Given the description of an element on the screen output the (x, y) to click on. 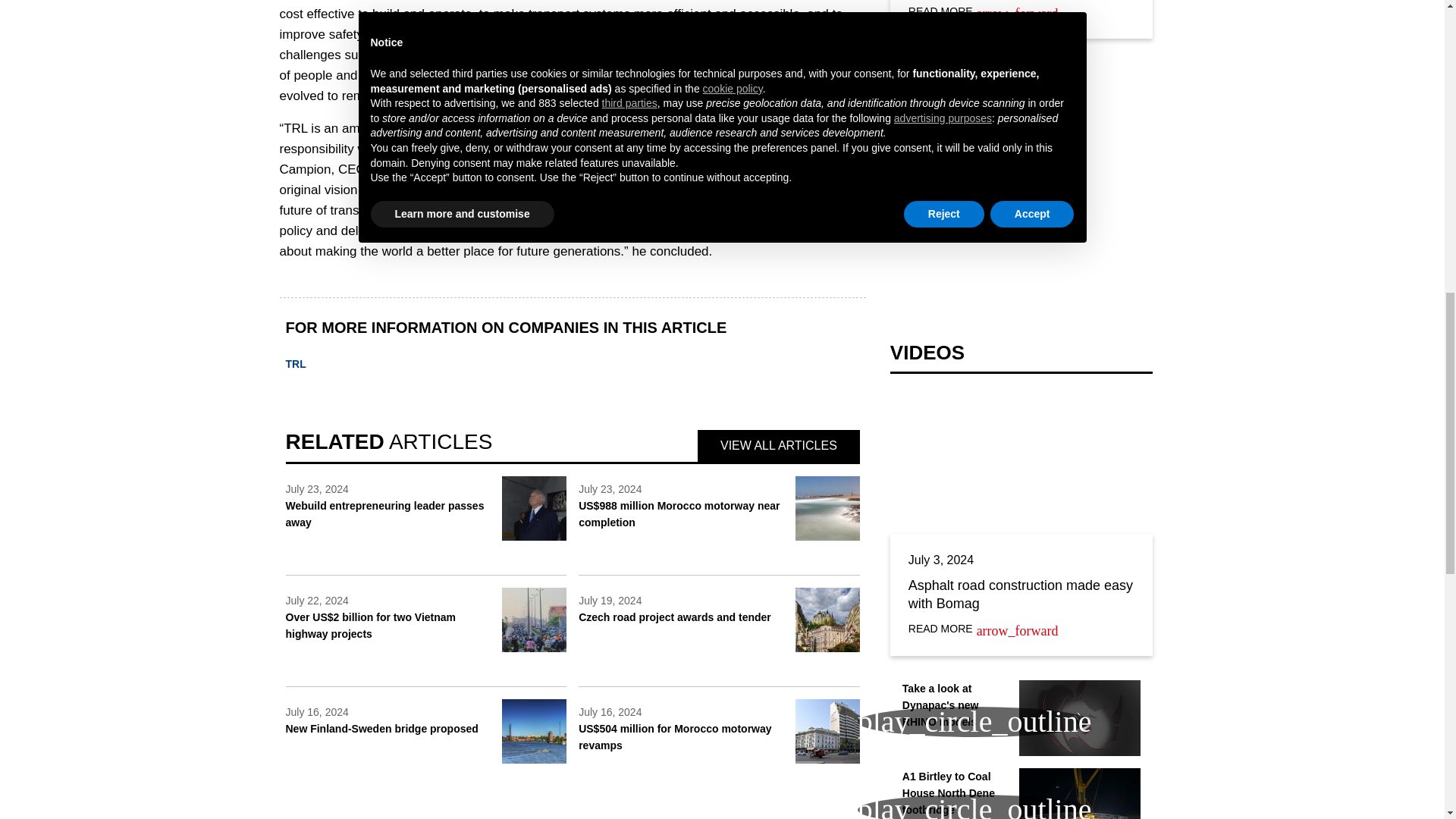
The former head of Webuild, Simonpietro Salini, passed away (534, 507)
3rd party ad content (1021, 218)
